Given the description of an element on the screen output the (x, y) to click on. 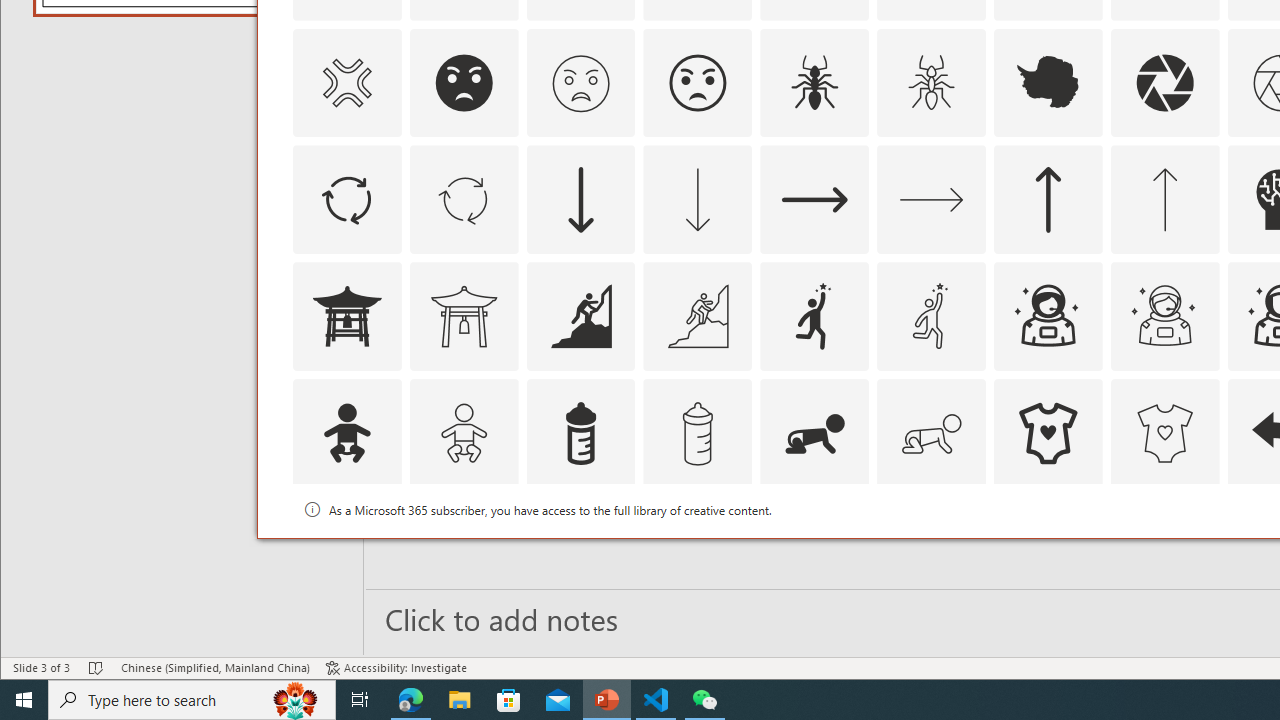
AutomationID: Icons_AsianTemple1 (346, 316)
AutomationID: Icons_AngryFace_M (580, 82)
Spell Check No Errors (96, 668)
AutomationID: Icons_AngryFace (463, 82)
AutomationID: Icons_Badge10_M (346, 550)
AutomationID: Icons_ArrowUp (1048, 200)
AutomationID: Icons_Badge5 (1164, 550)
AutomationID: Icons_ArrowDown_M (697, 200)
